Given the description of an element on the screen output the (x, y) to click on. 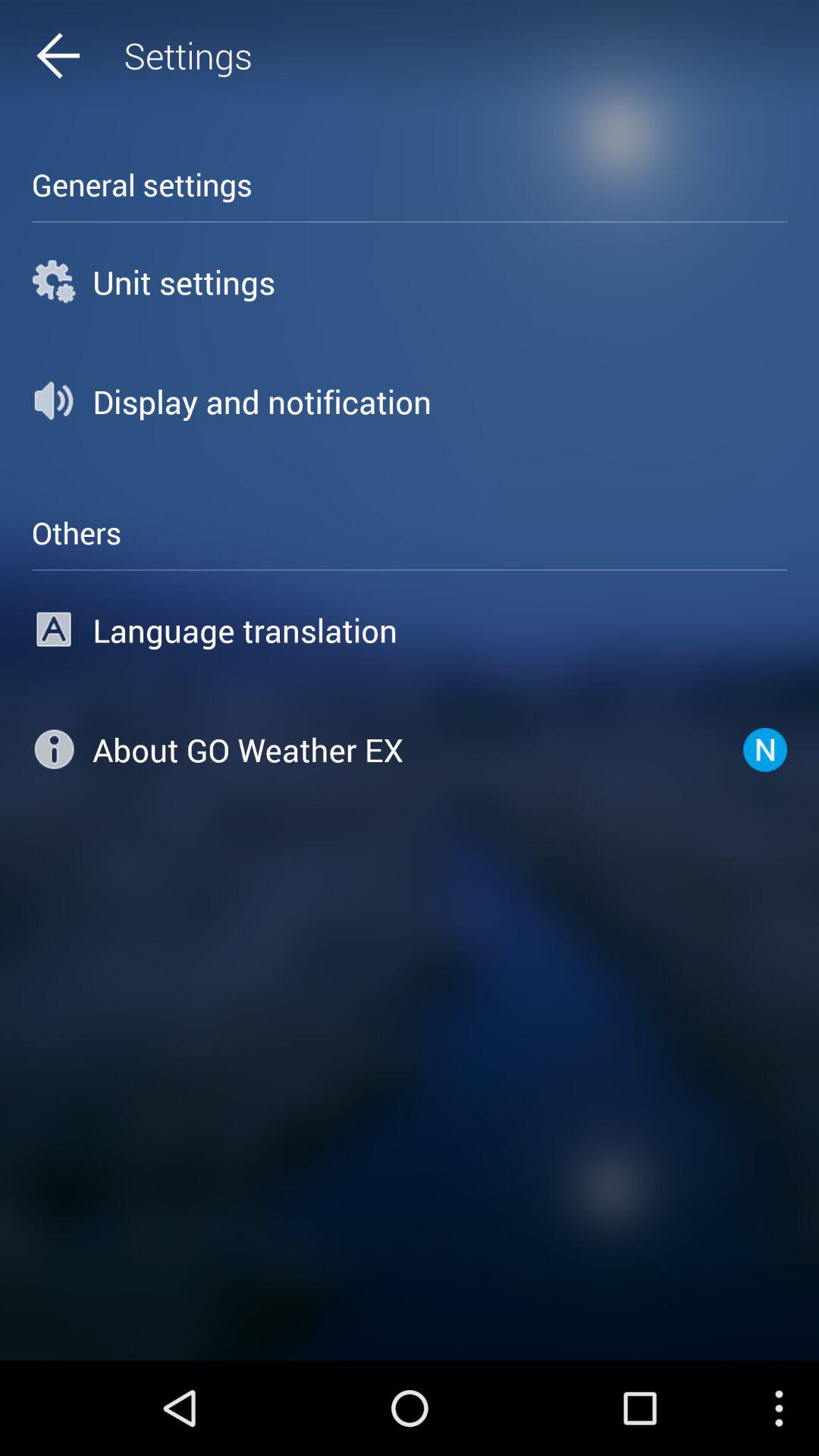
turn off the icon above the others icon (409, 401)
